Given the description of an element on the screen output the (x, y) to click on. 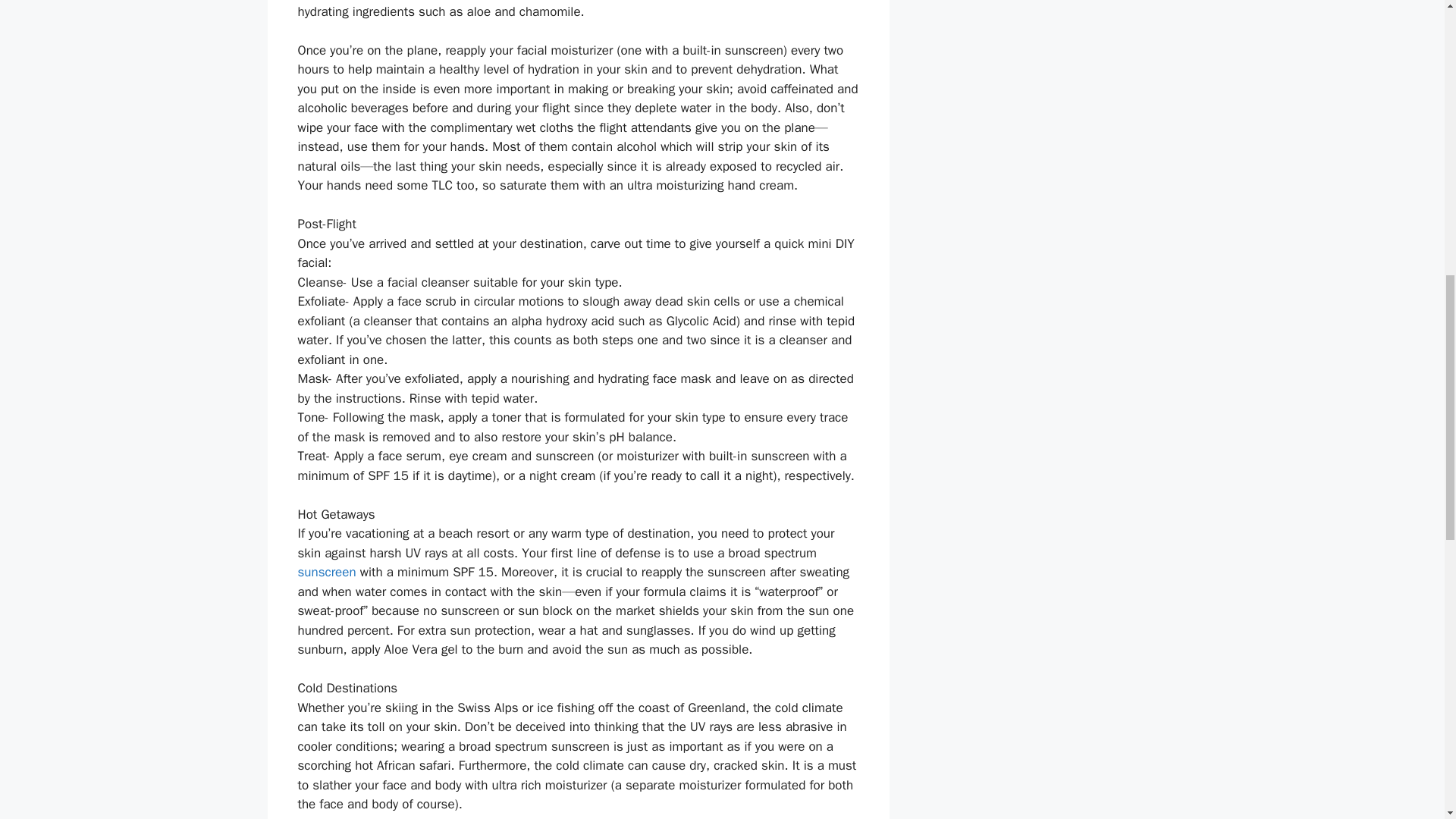
Scroll back to top (1406, 720)
sunscreen (326, 571)
